Given the description of an element on the screen output the (x, y) to click on. 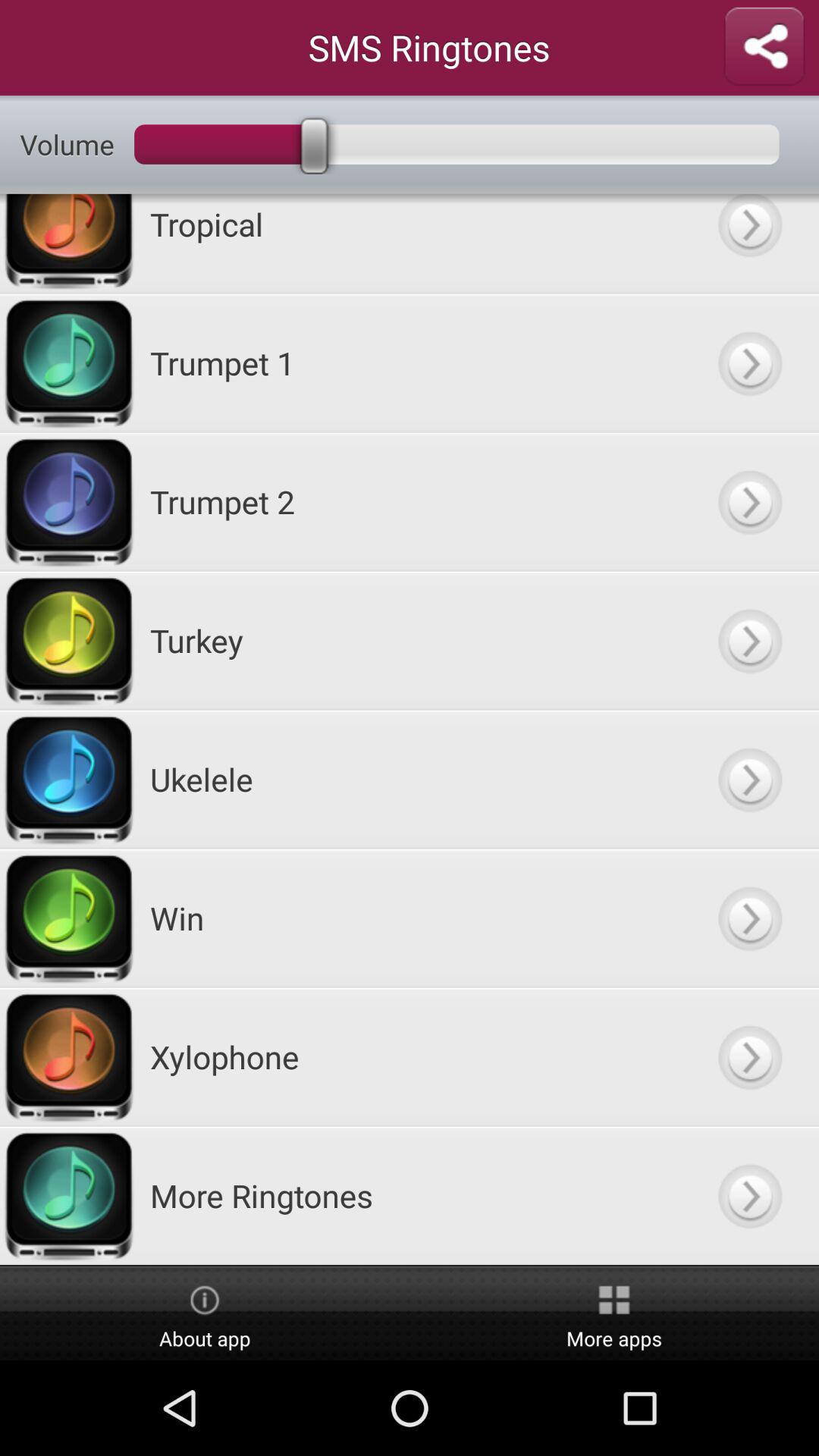
play (749, 640)
